Given the description of an element on the screen output the (x, y) to click on. 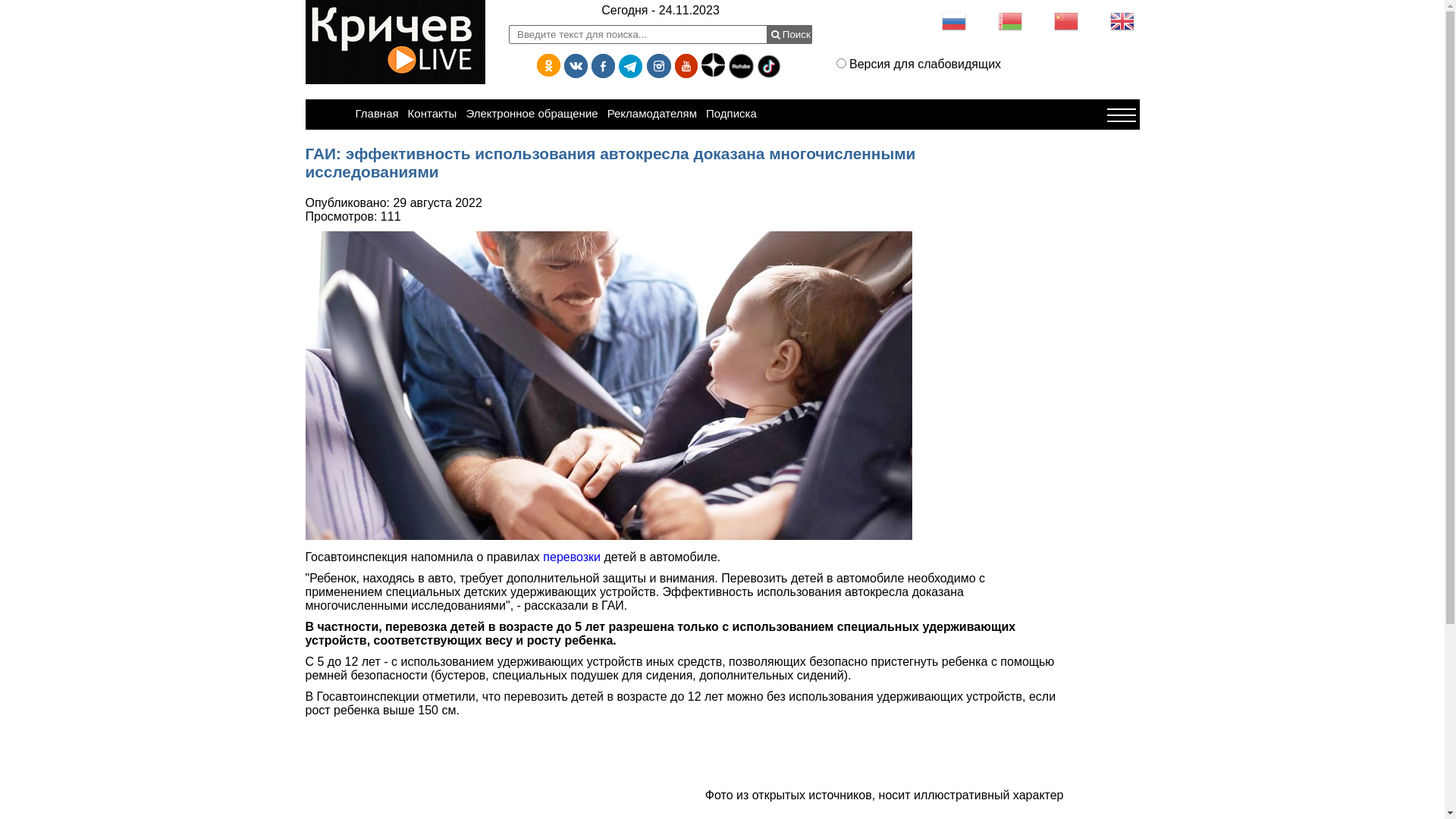
English Element type: hover (1121, 20)
